Given the description of an element on the screen output the (x, y) to click on. 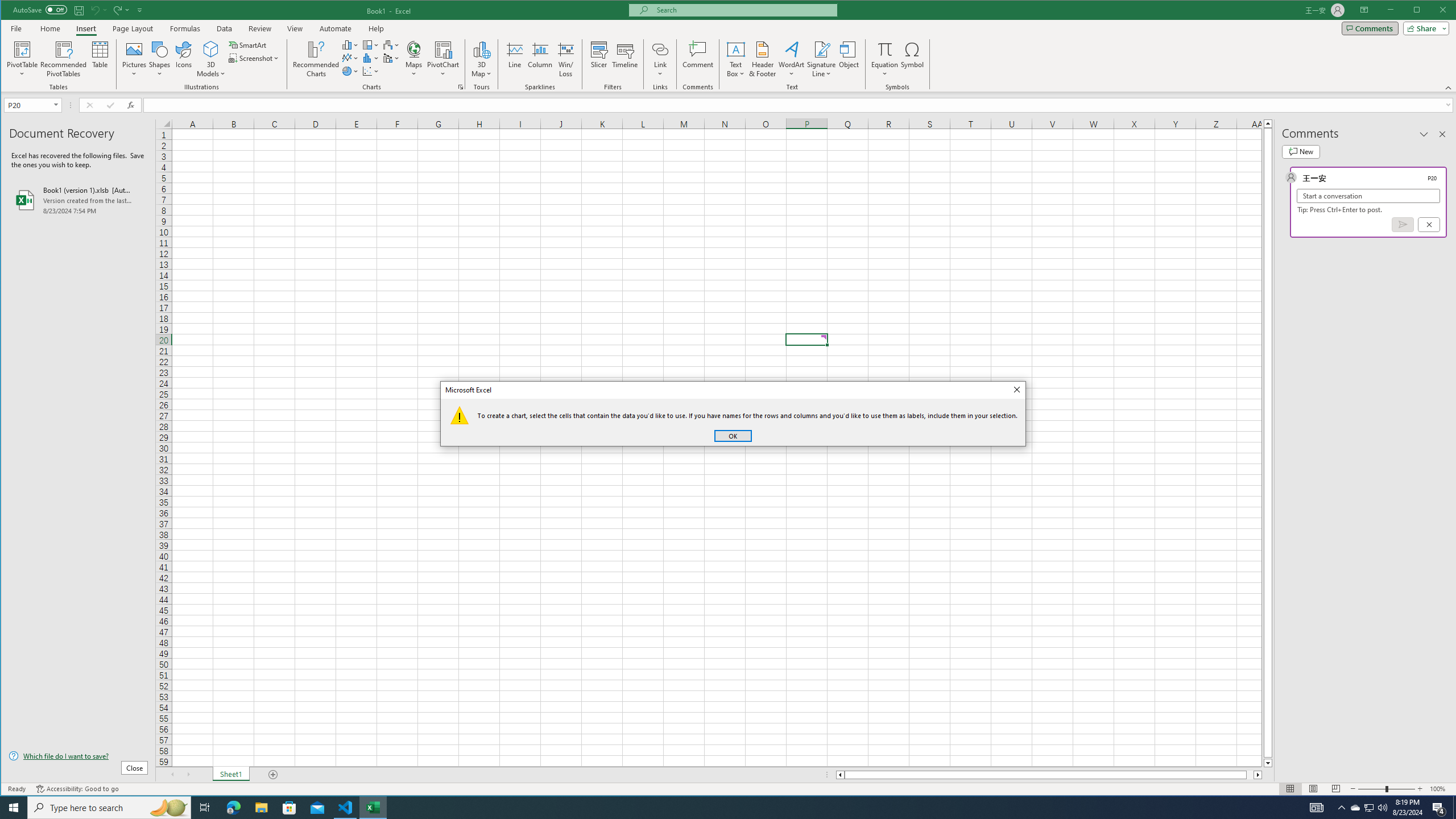
Equation (884, 48)
Start a conversation (1368, 195)
Search highlights icon opens search home window (167, 807)
PivotChart (443, 48)
Signature Line (821, 48)
Header & Footer... (762, 59)
Running applications (717, 807)
PivotTable (22, 48)
Screenshot (254, 57)
3D Map (481, 59)
Text Box (735, 59)
